Given the description of an element on the screen output the (x, y) to click on. 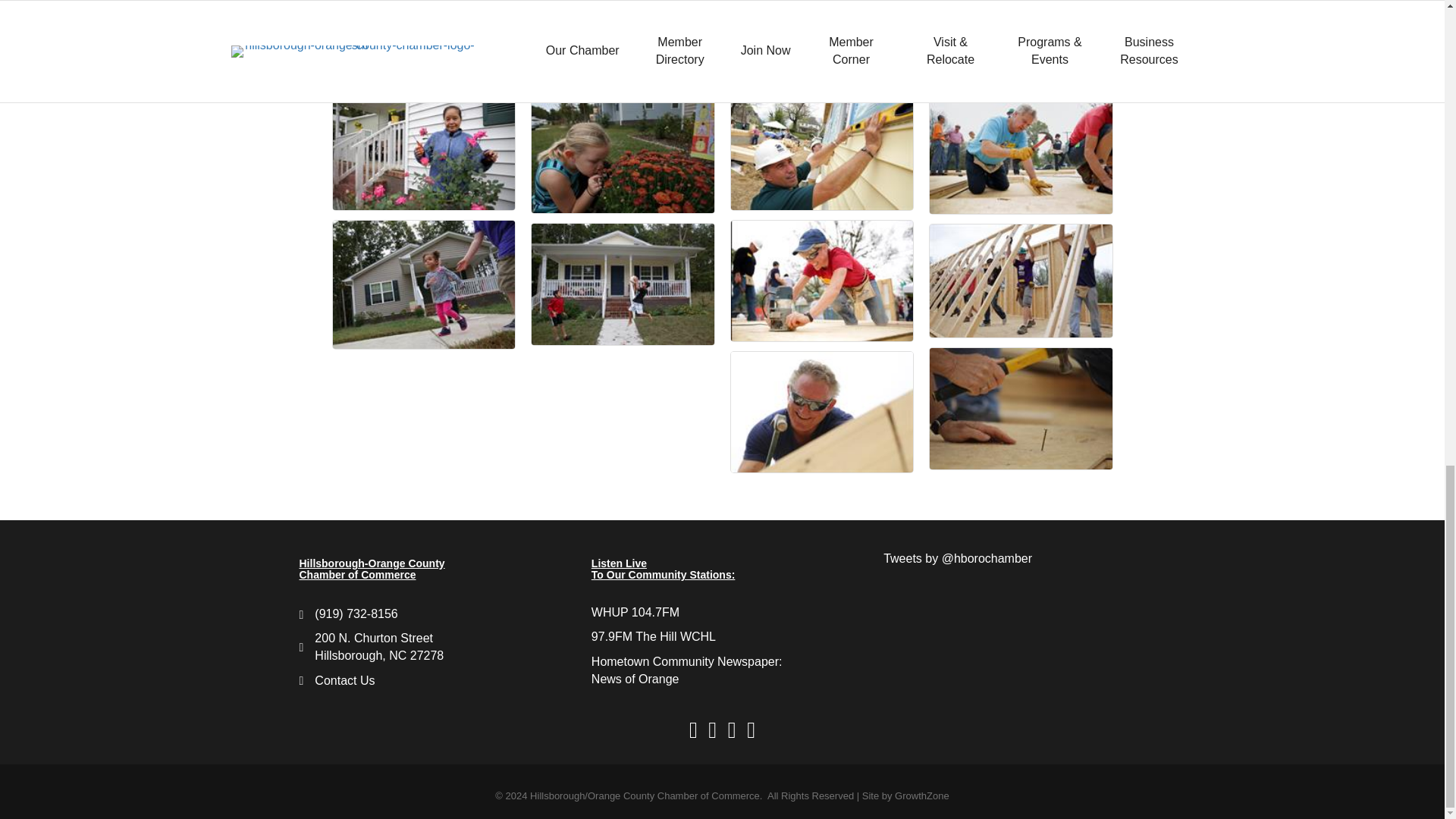
Gallery Image HABITAT.CEO.077.JPG (822, 280)
Gallery Image HABITAT.181.JPG (423, 148)
Gallery Image HABITAT.CEO.070.JPG (822, 412)
Gallery Image HABITAT.169.JPG (622, 150)
Gallery Image HABITAT.CEO.063.JPG (822, 148)
